Given the description of an element on the screen output the (x, y) to click on. 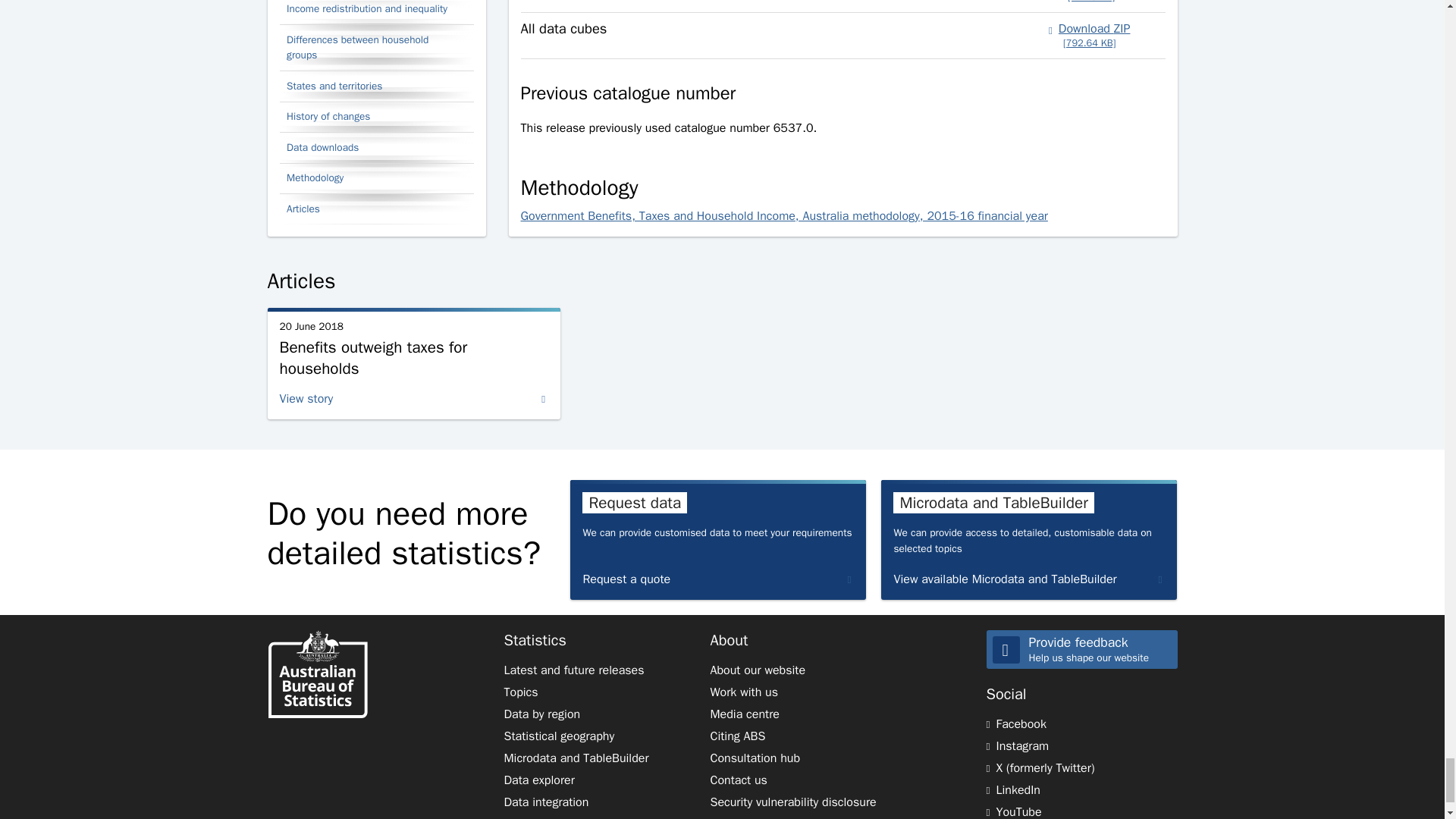
Data by region (541, 713)
Home (316, 673)
Home (316, 675)
Statistical geography (558, 735)
Microdata and TableBuilder (575, 758)
Latest and future releases (573, 670)
Topics (520, 692)
